Given the description of an element on the screen output the (x, y) to click on. 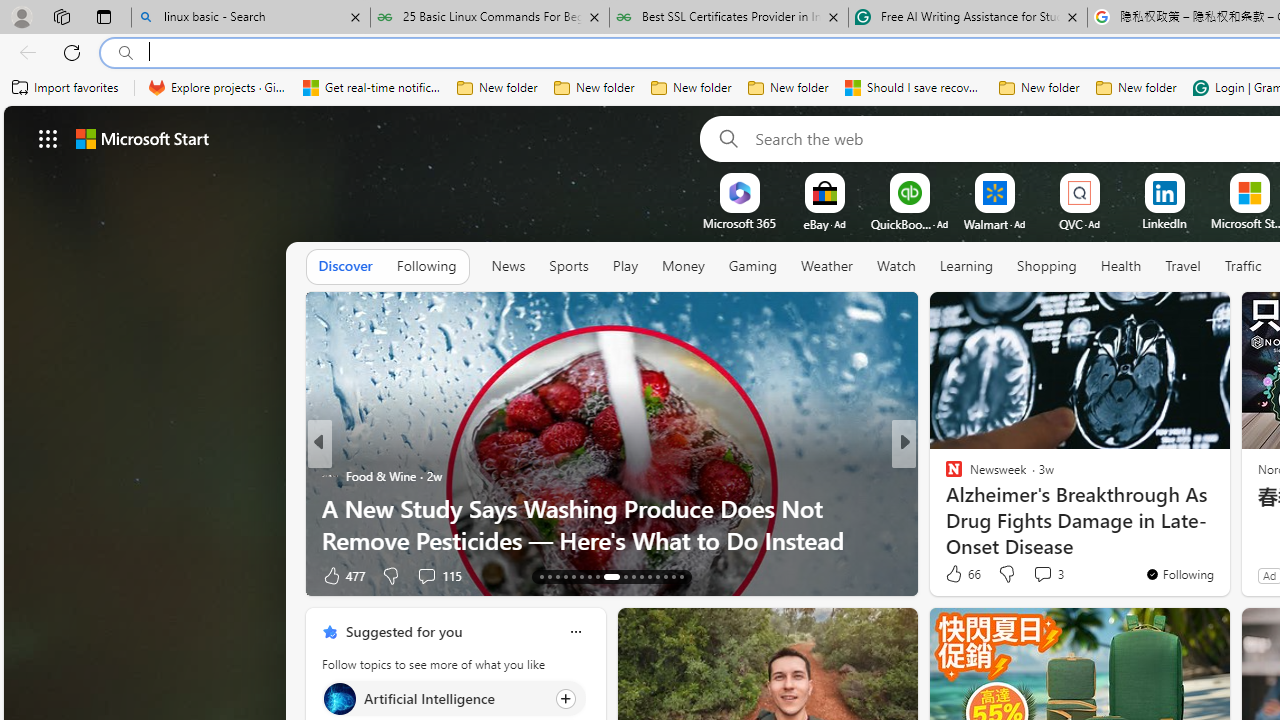
Import favorites (65, 88)
TechRadar (944, 507)
Should I save recovered Word documents? - Microsoft Support (913, 88)
AutomationID: tab-16 (564, 576)
Play (625, 265)
Health (1121, 265)
AutomationID: tab-29 (681, 576)
AutomationID: tab-18 (581, 576)
Learning (966, 267)
The Weather Channel (944, 475)
Money (682, 265)
View comments 2 Comment (1041, 574)
